Given the description of an element on the screen output the (x, y) to click on. 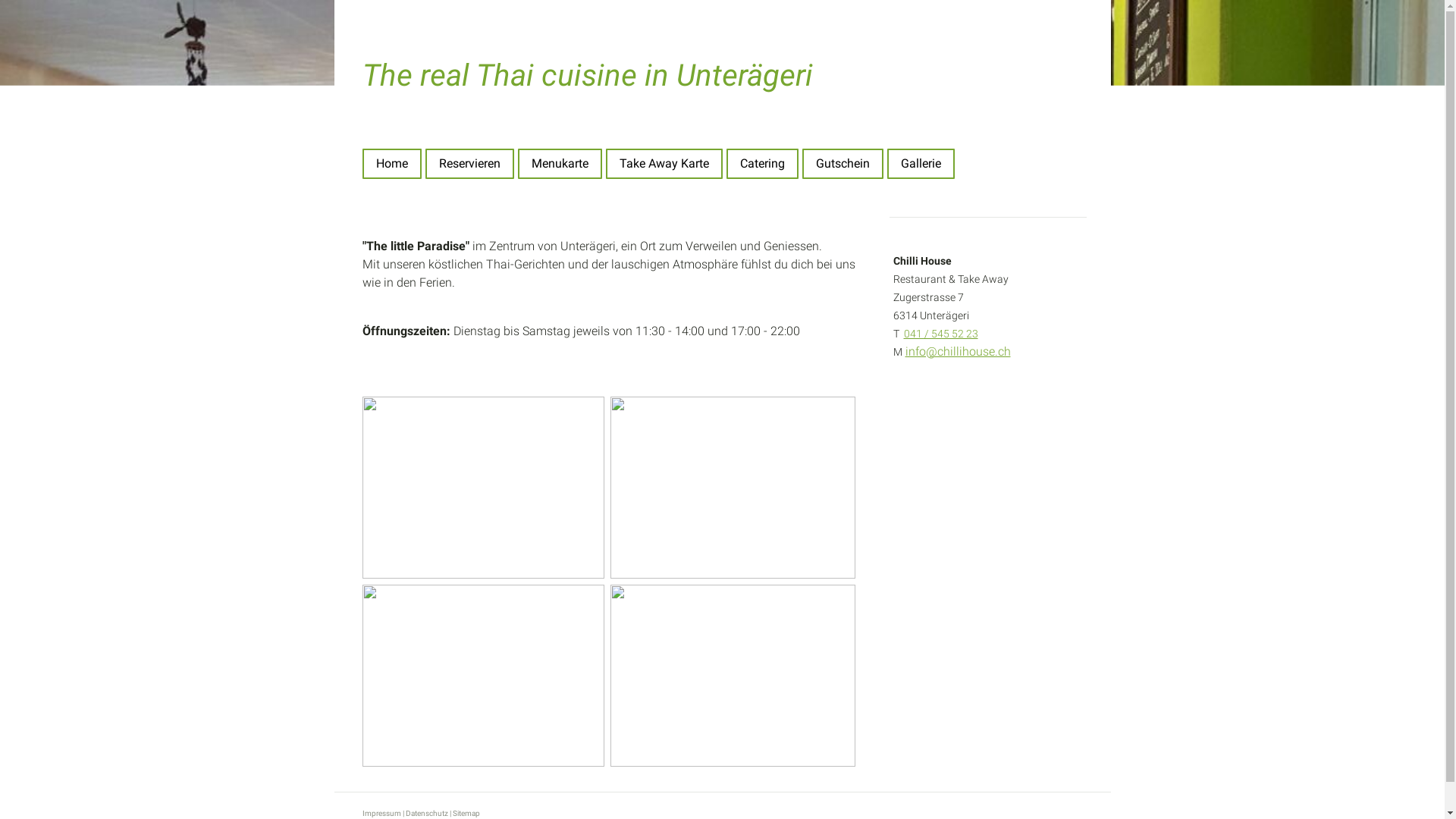
Reservieren Element type: text (468, 163)
info@chillihouse.ch Element type: text (957, 351)
Datenschutz Element type: text (425, 813)
Gallerie Element type: text (920, 163)
Menukarte Element type: text (558, 163)
Home Element type: text (392, 163)
Sitemap Element type: text (465, 813)
Take Away Karte Element type: text (663, 163)
Gutschein Element type: text (842, 163)
Catering Element type: text (762, 163)
Impressum Element type: text (381, 813)
041 / 545 52 23 Element type: text (940, 333)
